Given the description of an element on the screen output the (x, y) to click on. 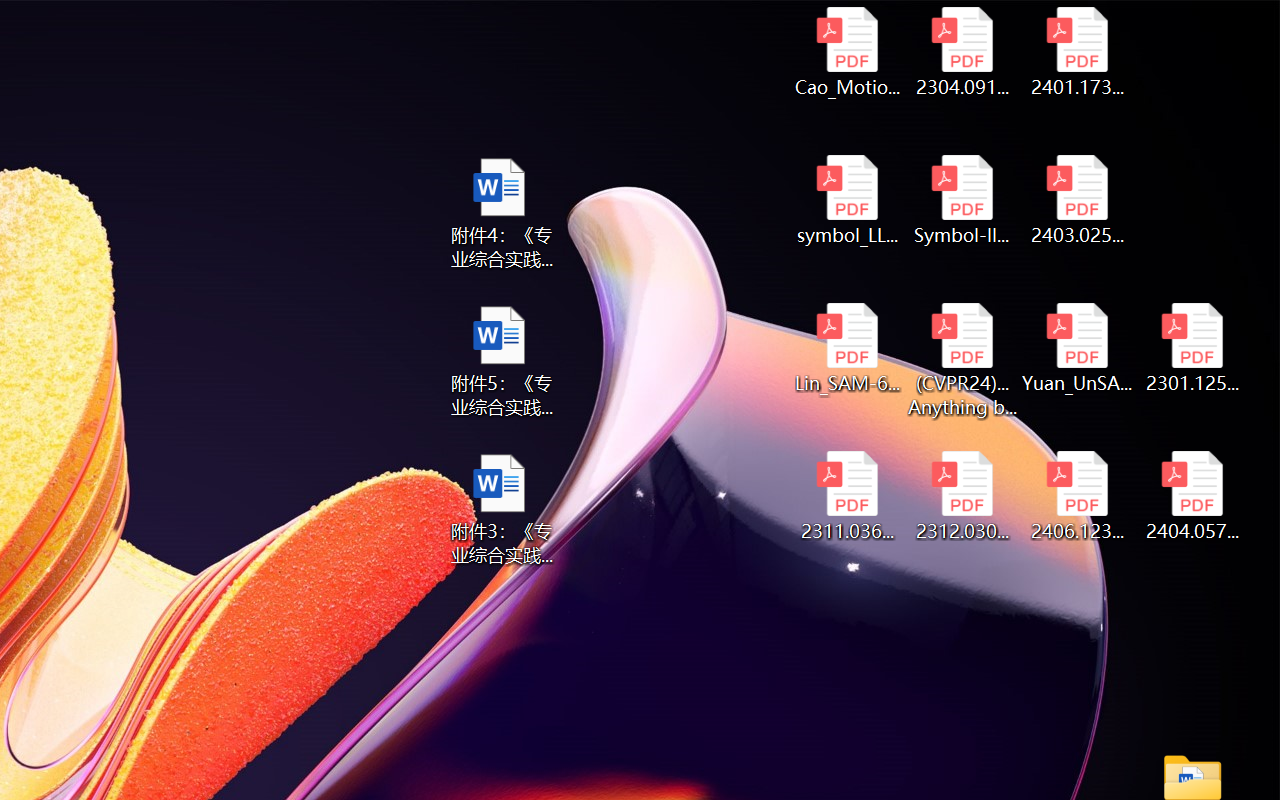
Symbol-llm-v2.pdf (962, 200)
2312.03032v2.pdf (962, 496)
2406.12373v2.pdf (1077, 496)
2403.02502v1.pdf (1077, 200)
2311.03658v2.pdf (846, 496)
2304.09121v3.pdf (962, 52)
2404.05719v1.pdf (1192, 496)
2401.17399v1.pdf (1077, 52)
symbol_LLM.pdf (846, 200)
2301.12597v3.pdf (1192, 348)
(CVPR24)Matching Anything by Segmenting Anything.pdf (962, 360)
